Given the description of an element on the screen output the (x, y) to click on. 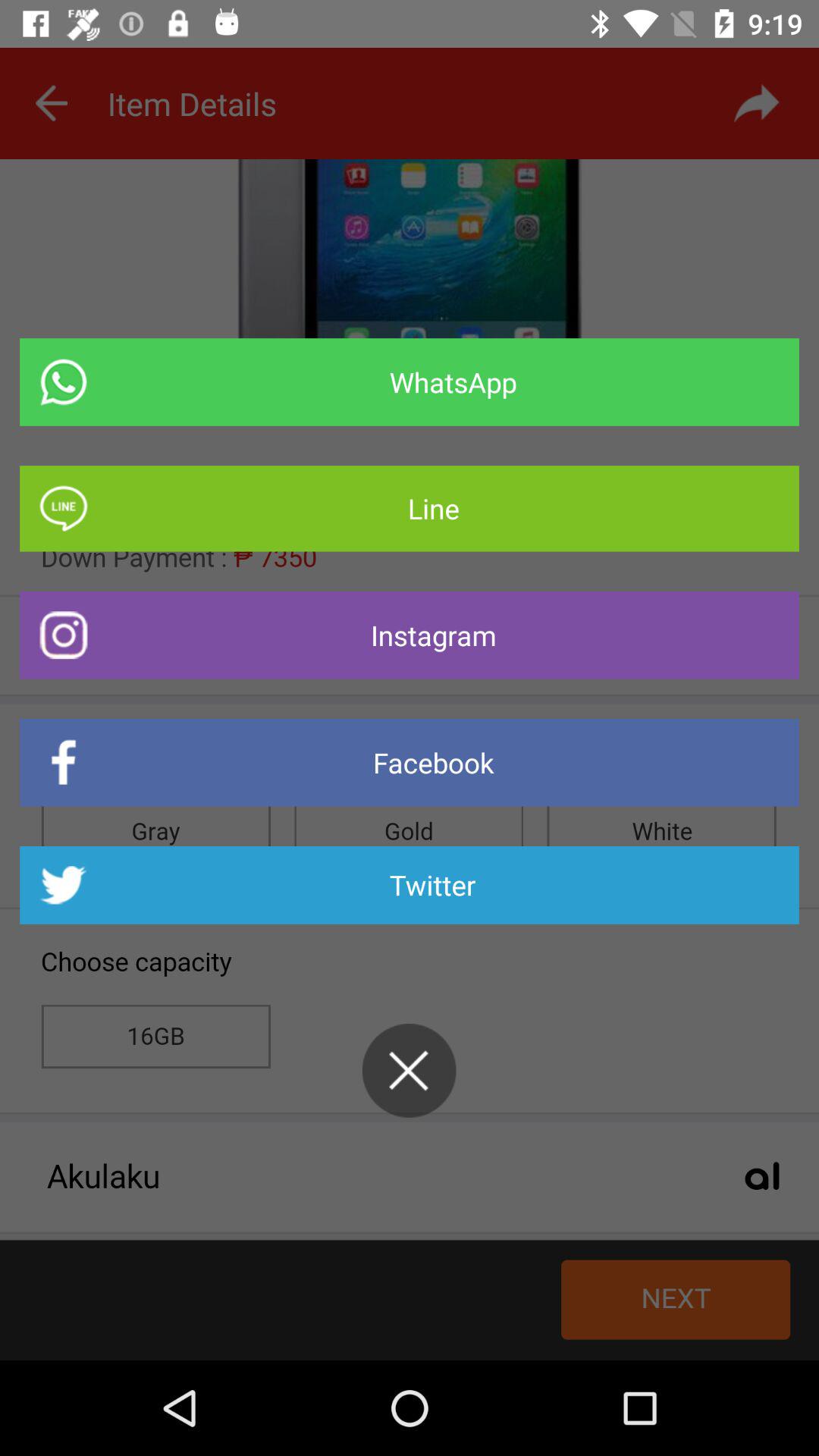
exit share to screen (409, 1070)
